Given the description of an element on the screen output the (x, y) to click on. 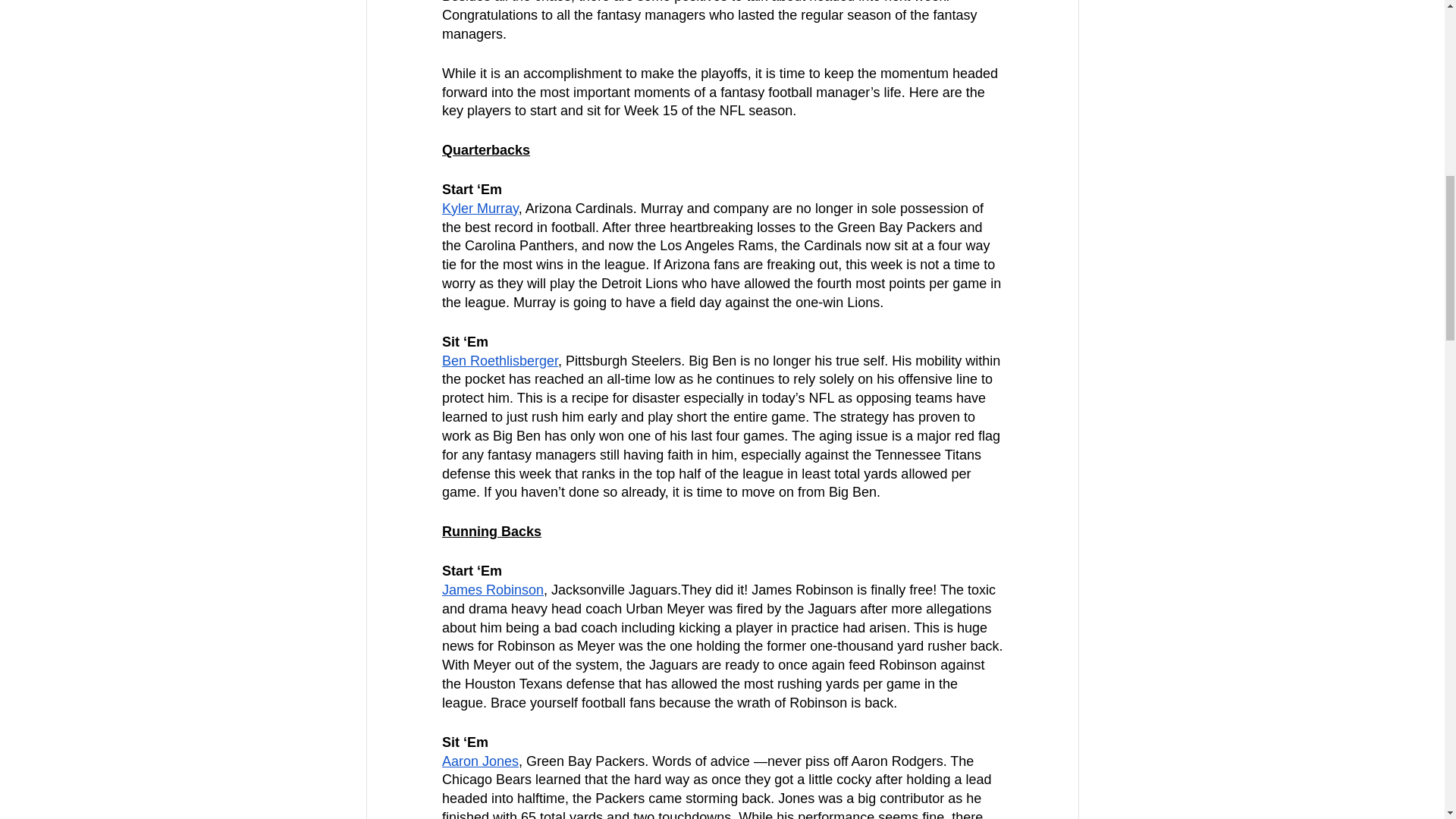
Ben Roethlisberger (499, 360)
Aaron Jones (479, 761)
Kyler Murray (479, 208)
James Robinson (492, 589)
